Given the description of an element on the screen output the (x, y) to click on. 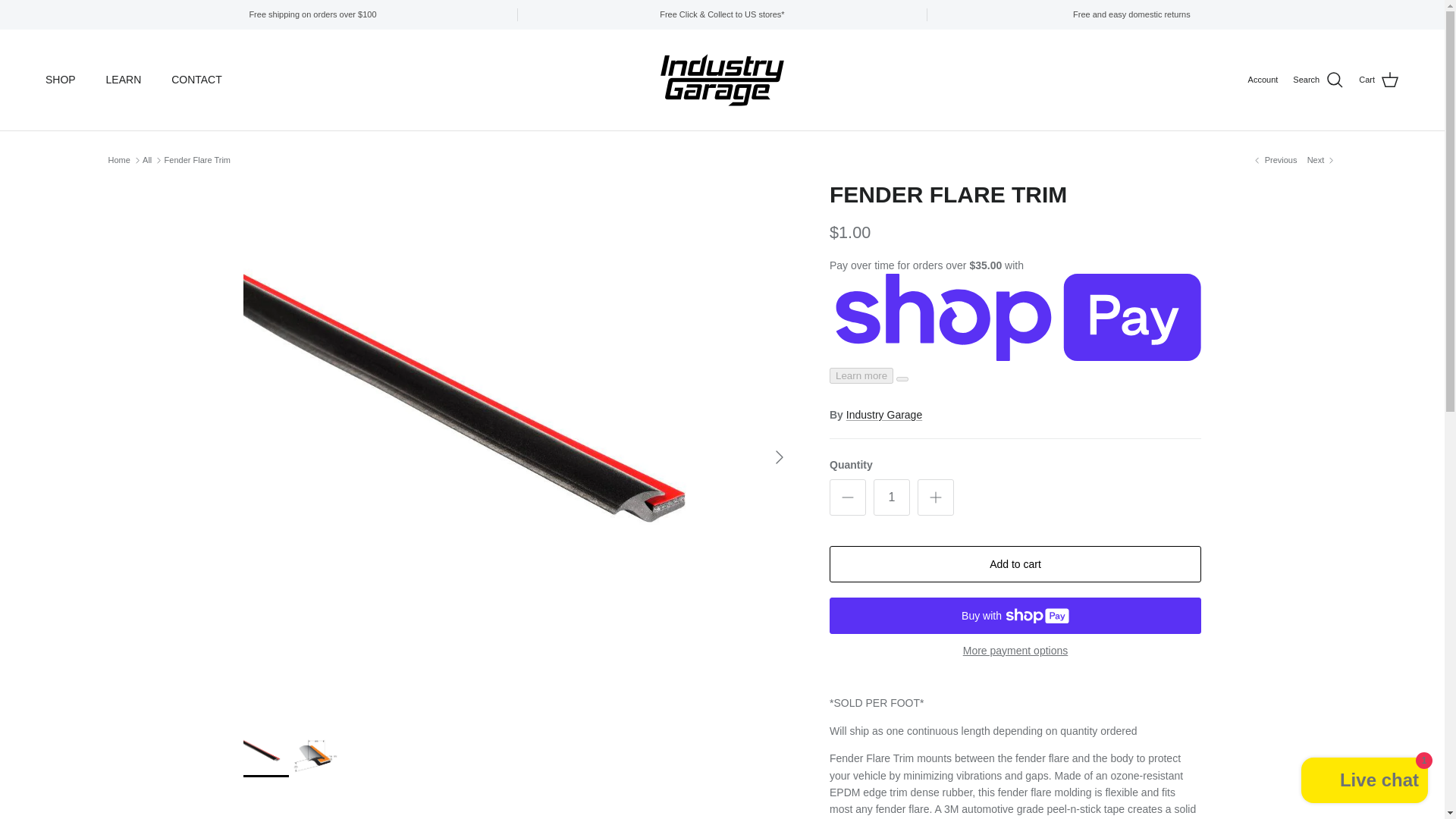
Industry Garage Nissan S30 Carbon Fiber Roof (1274, 160)
1 (891, 497)
SHOP (60, 79)
SB Tri-Color Tee (1321, 160)
Industry Garage (721, 80)
Search (1317, 80)
CONTACT (196, 79)
Shopify online store chat (1364, 781)
Account (1262, 79)
Cart (1378, 80)
LEARN (124, 79)
